Given the description of an element on the screen output the (x, y) to click on. 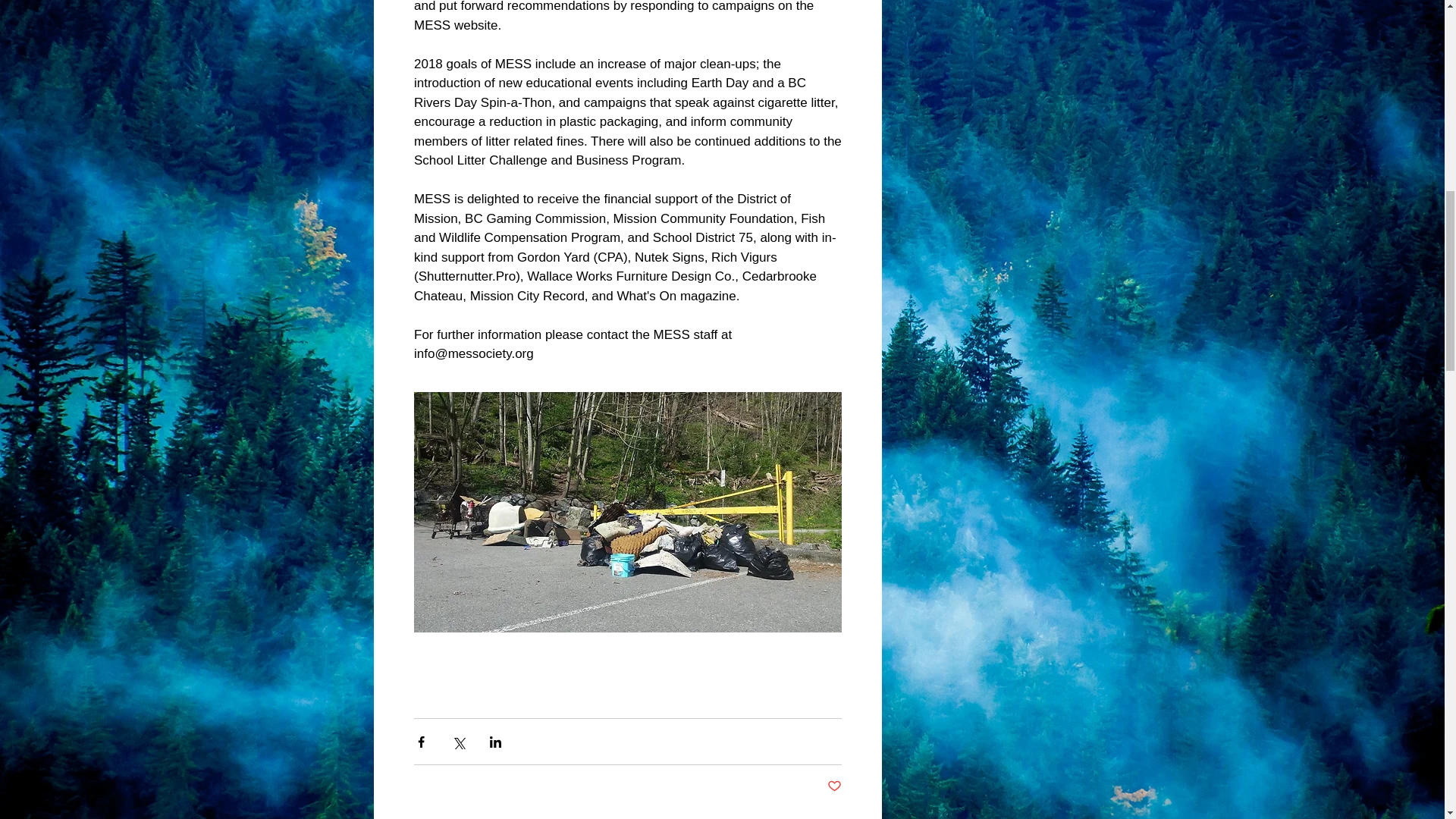
Post not marked as liked (834, 786)
